Given the description of an element on the screen output the (x, y) to click on. 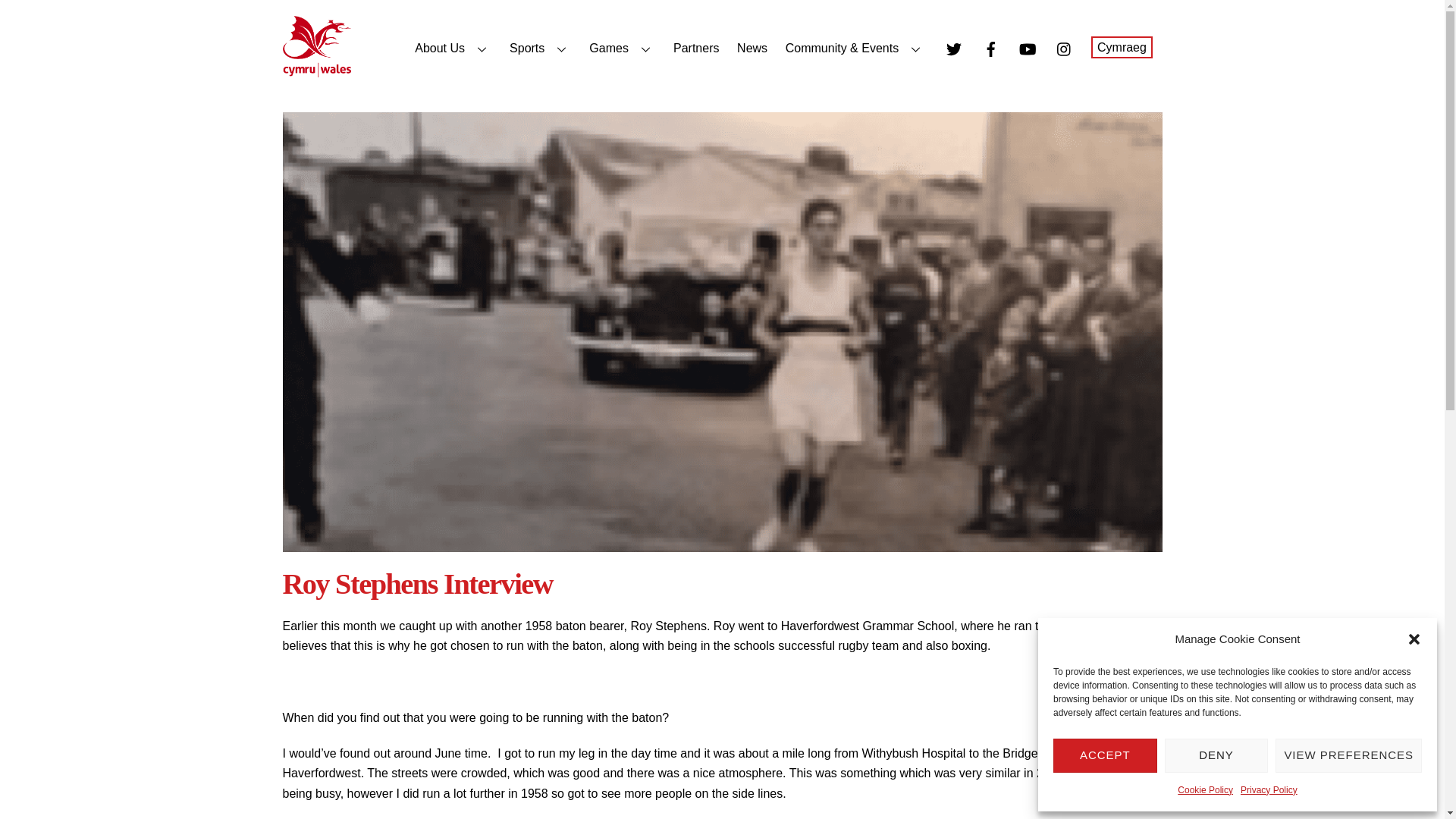
Games (622, 48)
VIEW PREFERENCES (1348, 755)
News (751, 48)
Cymraeg (1120, 47)
Partners (695, 48)
DENY (1216, 755)
ACCEPT (1104, 755)
About Us (453, 48)
Privacy Policy (1268, 790)
Sports (540, 48)
Cookie Policy (1205, 790)
Team Wales (316, 69)
